Given the description of an element on the screen output the (x, y) to click on. 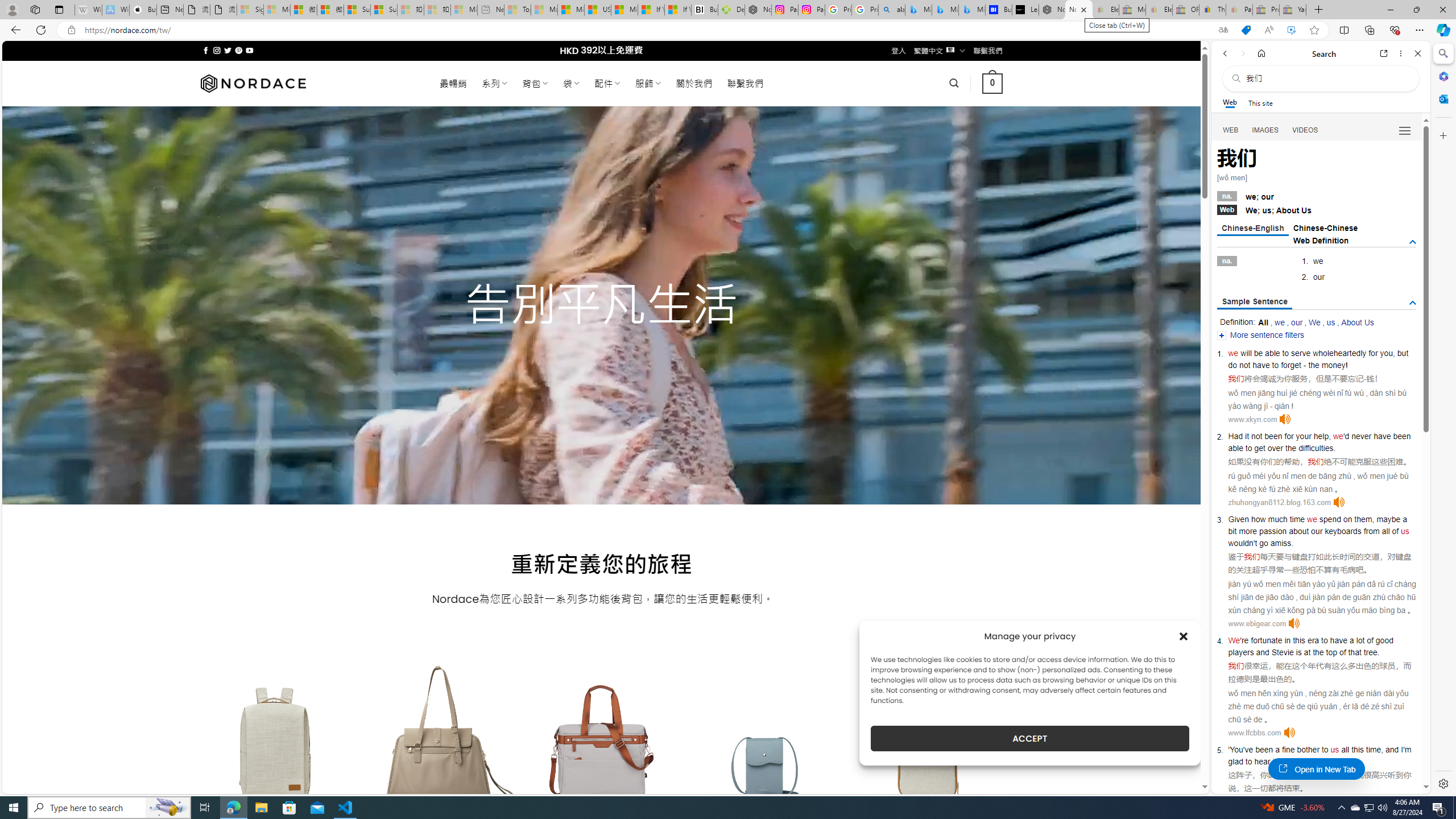
 0  (992, 83)
era (1313, 640)
www.lfcbbs.com (1254, 732)
never (1361, 435)
difficulties (1315, 447)
Given (1238, 519)
the (1290, 447)
